Given the description of an element on the screen output the (x, y) to click on. 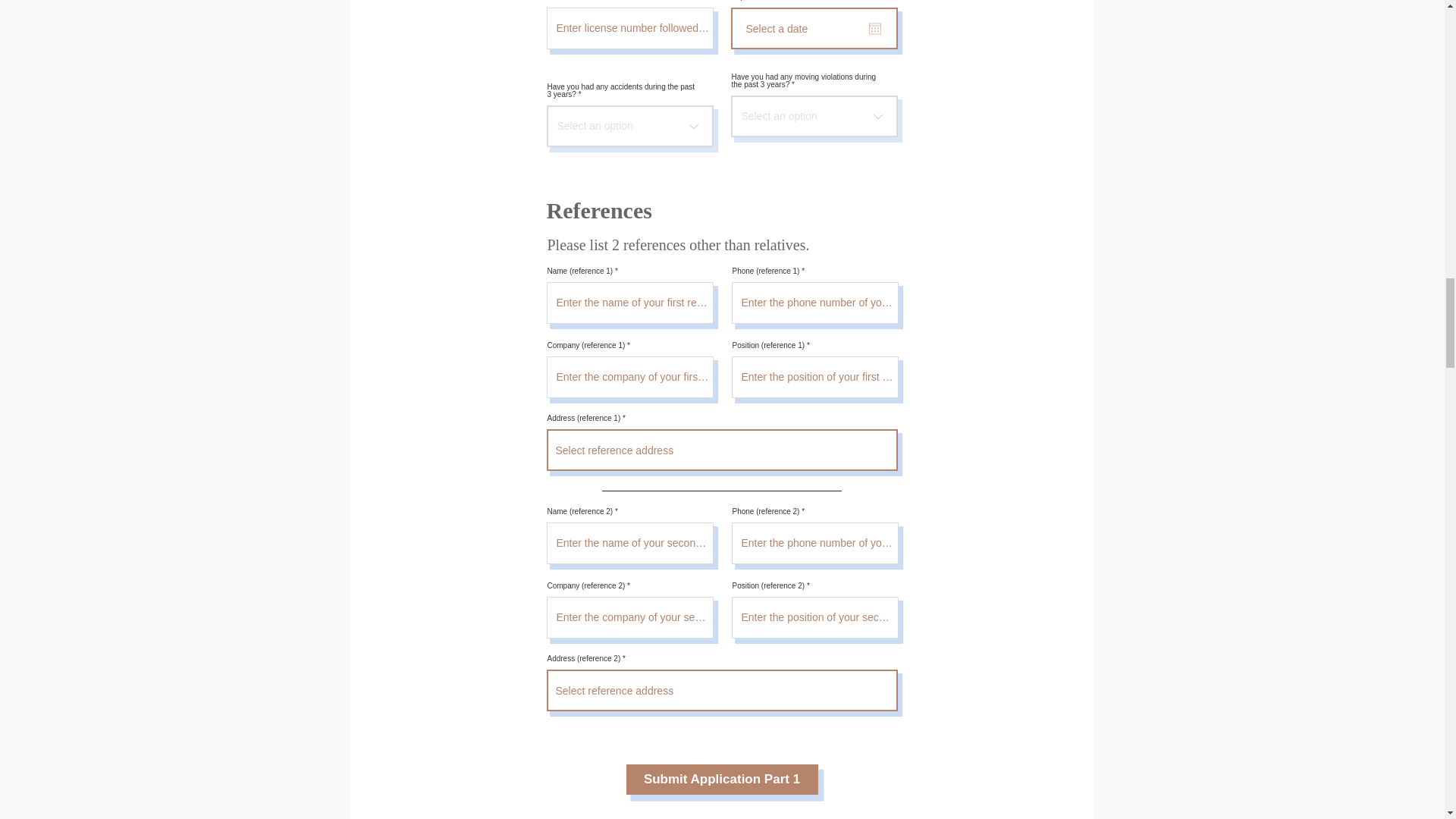
Submit Application Part 1 (722, 779)
